Given the description of an element on the screen output the (x, y) to click on. 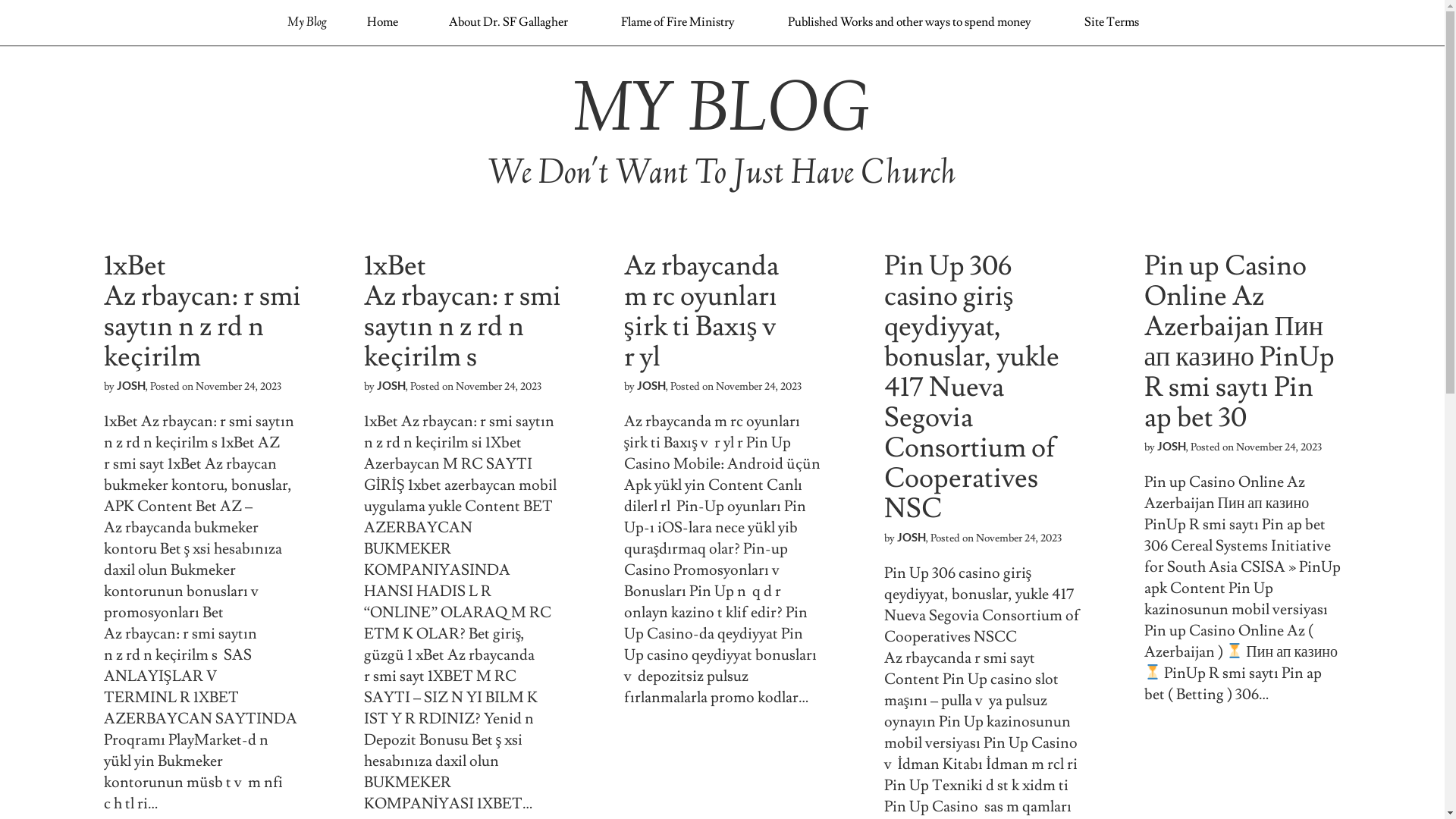
November 24, 2023 Element type: text (1017, 538)
About Dr. SF Gallagher Element type: text (508, 21)
JOSH Element type: text (1171, 445)
ABOUT DR. SF GALLAGHER Element type: text (502, 65)
Home Element type: text (382, 21)
November 24, 2023 Element type: text (238, 386)
JOSH Element type: text (130, 385)
HOME Element type: text (386, 65)
Published Works and other ways to spend money Element type: text (909, 21)
JOSH Element type: text (910, 536)
FLAME OF FIRE MINISTRY Element type: text (658, 65)
PUBLISHED WORKS AND OTHER WAYS TO SPEND MONEY Element type: text (870, 65)
November 24, 2023 Element type: text (1278, 447)
Flame of Fire Ministry Element type: text (677, 21)
JOSH Element type: text (390, 385)
SITE TERMS Element type: text (1057, 65)
November 24, 2023 Element type: text (758, 386)
Site Terms Element type: text (1111, 21)
JOSH Element type: text (651, 385)
November 24, 2023 Element type: text (497, 386)
